Given the description of an element on the screen output the (x, y) to click on. 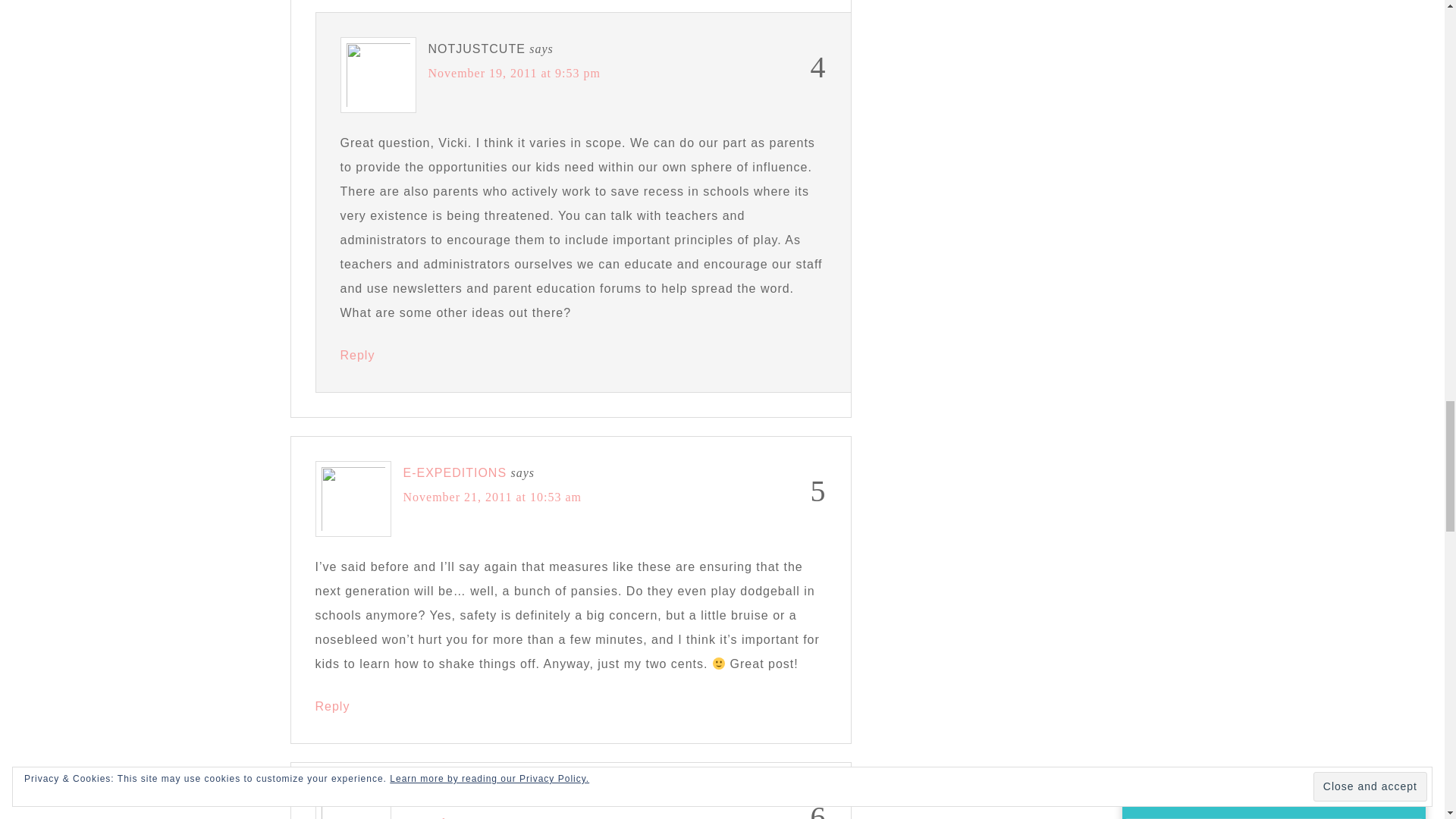
November 19, 2011 at 9:53 pm (513, 72)
